Given the description of an element on the screen output the (x, y) to click on. 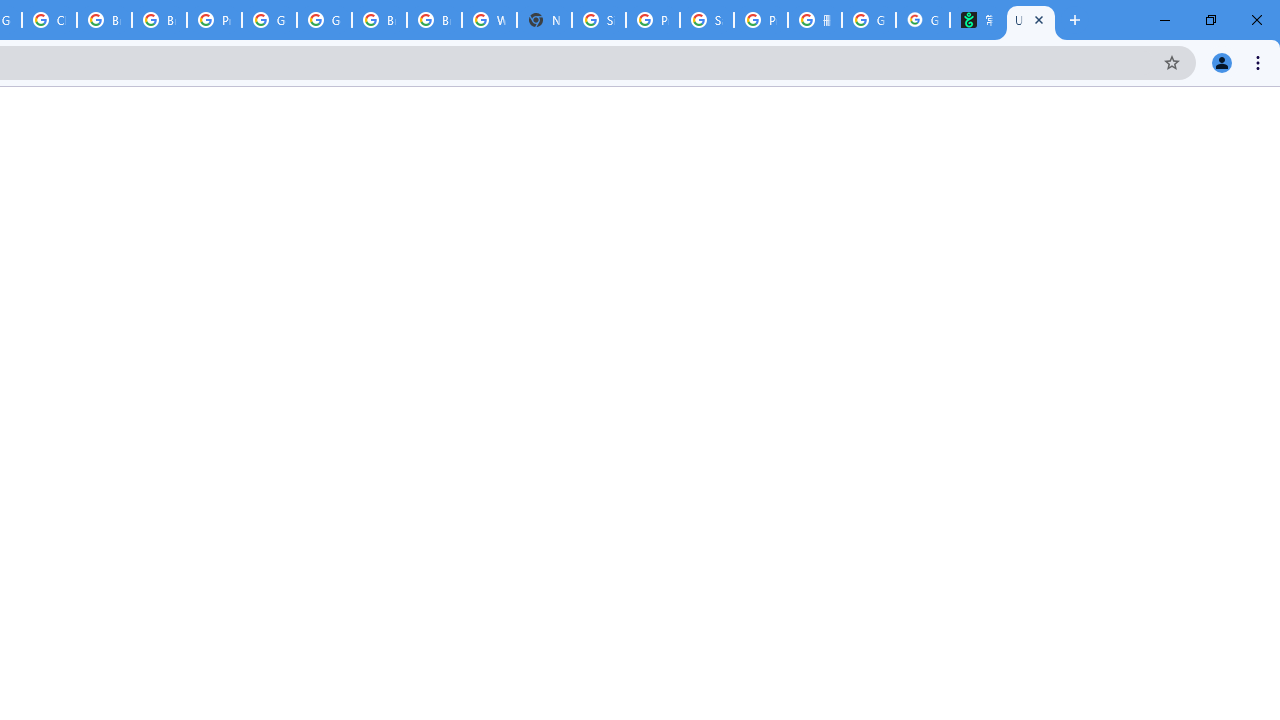
New Tab (544, 20)
Google Cloud Platform (324, 20)
Browse Chrome as a guest - Computer - Google Chrome Help (103, 20)
